Given the description of an element on the screen output the (x, y) to click on. 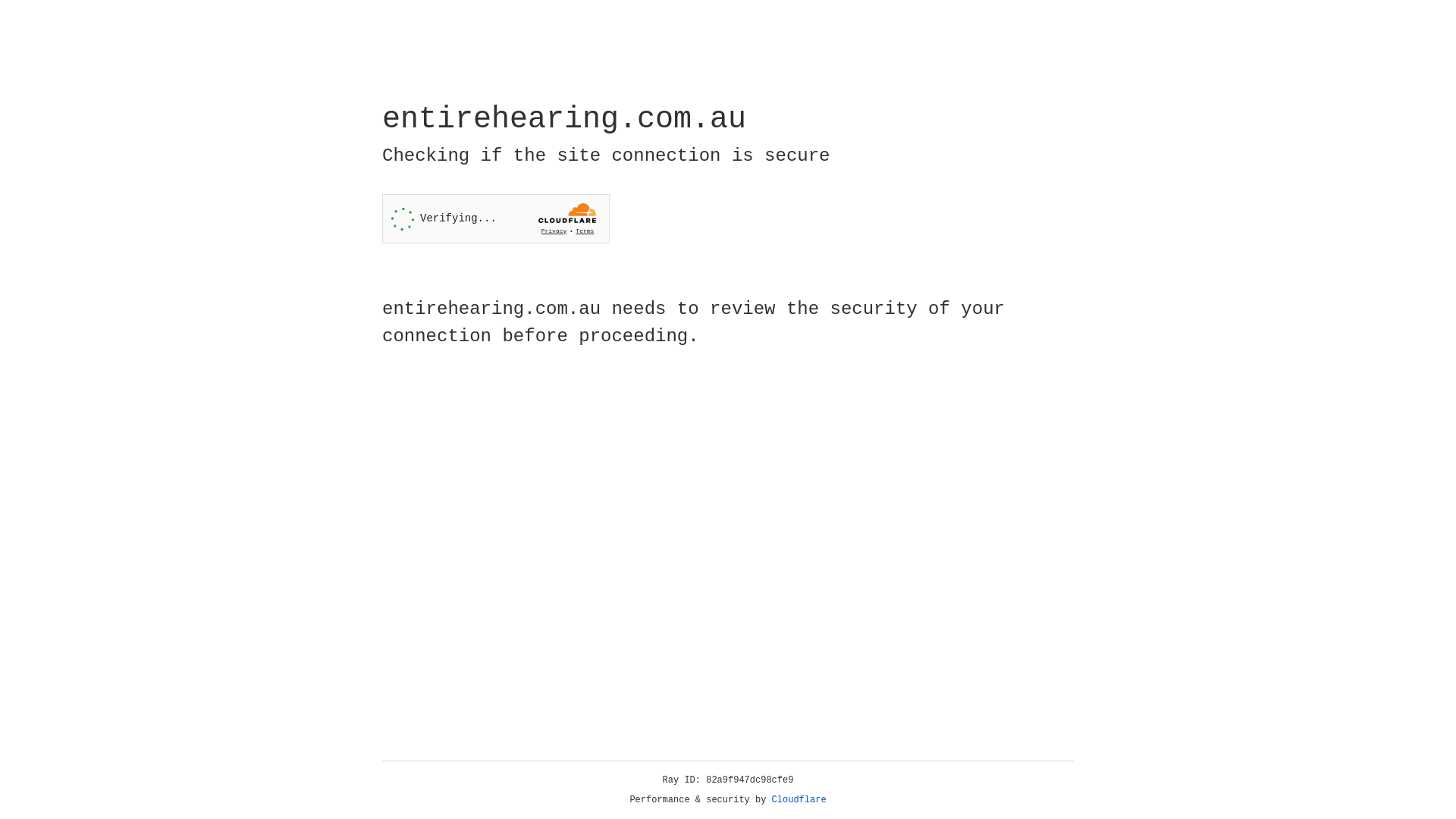
Cloudflare Element type: text (798, 799)
